Given the description of an element on the screen output the (x, y) to click on. 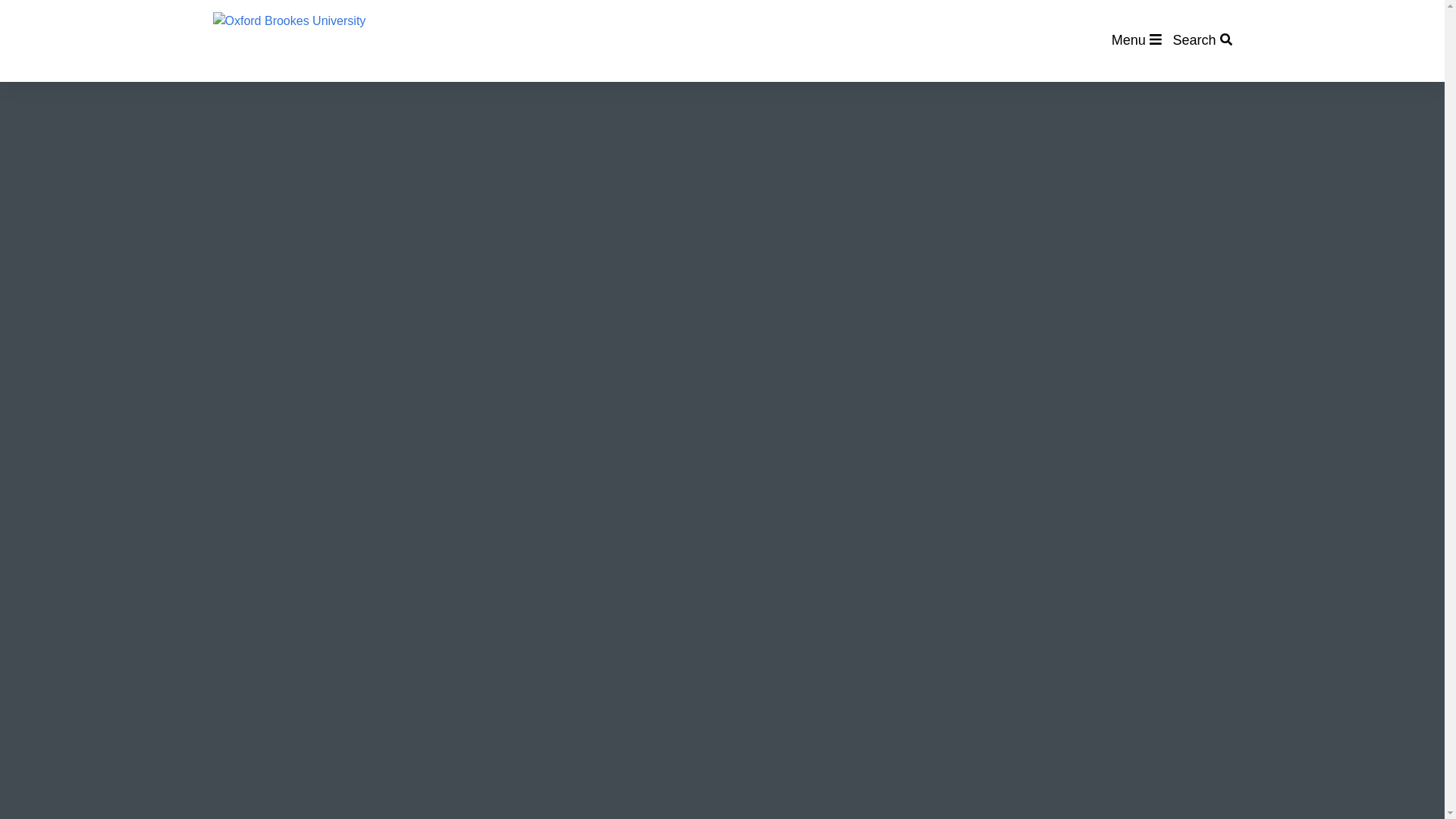
Search (1201, 39)
Menu (1136, 39)
